Given the description of an element on the screen output the (x, y) to click on. 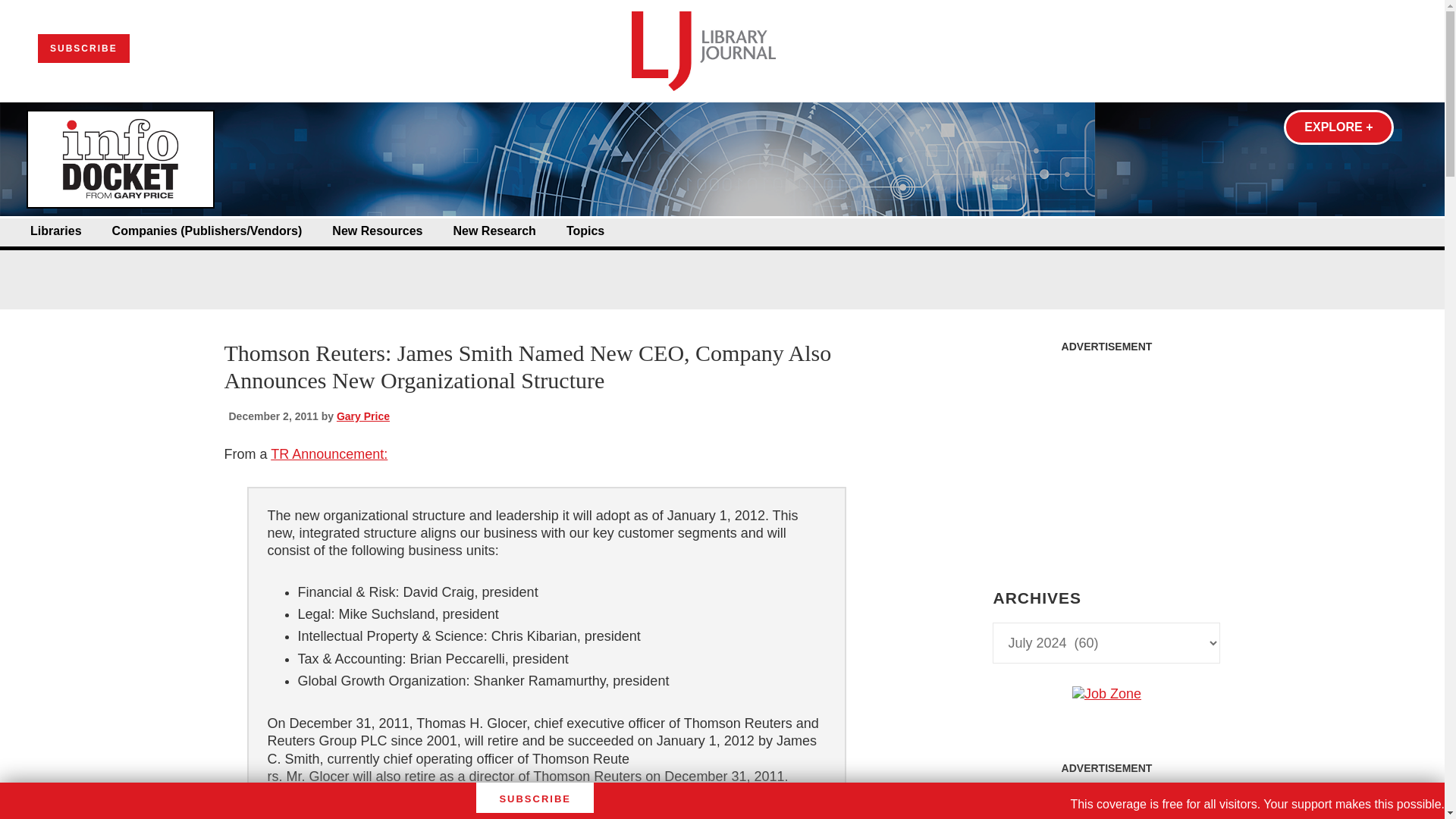
New Resources (376, 231)
SUBSCRIBE (83, 48)
3rd party ad content (1106, 800)
3rd party ad content (1106, 455)
3rd party ad content (721, 264)
Libraries (55, 231)
